Given the description of an element on the screen output the (x, y) to click on. 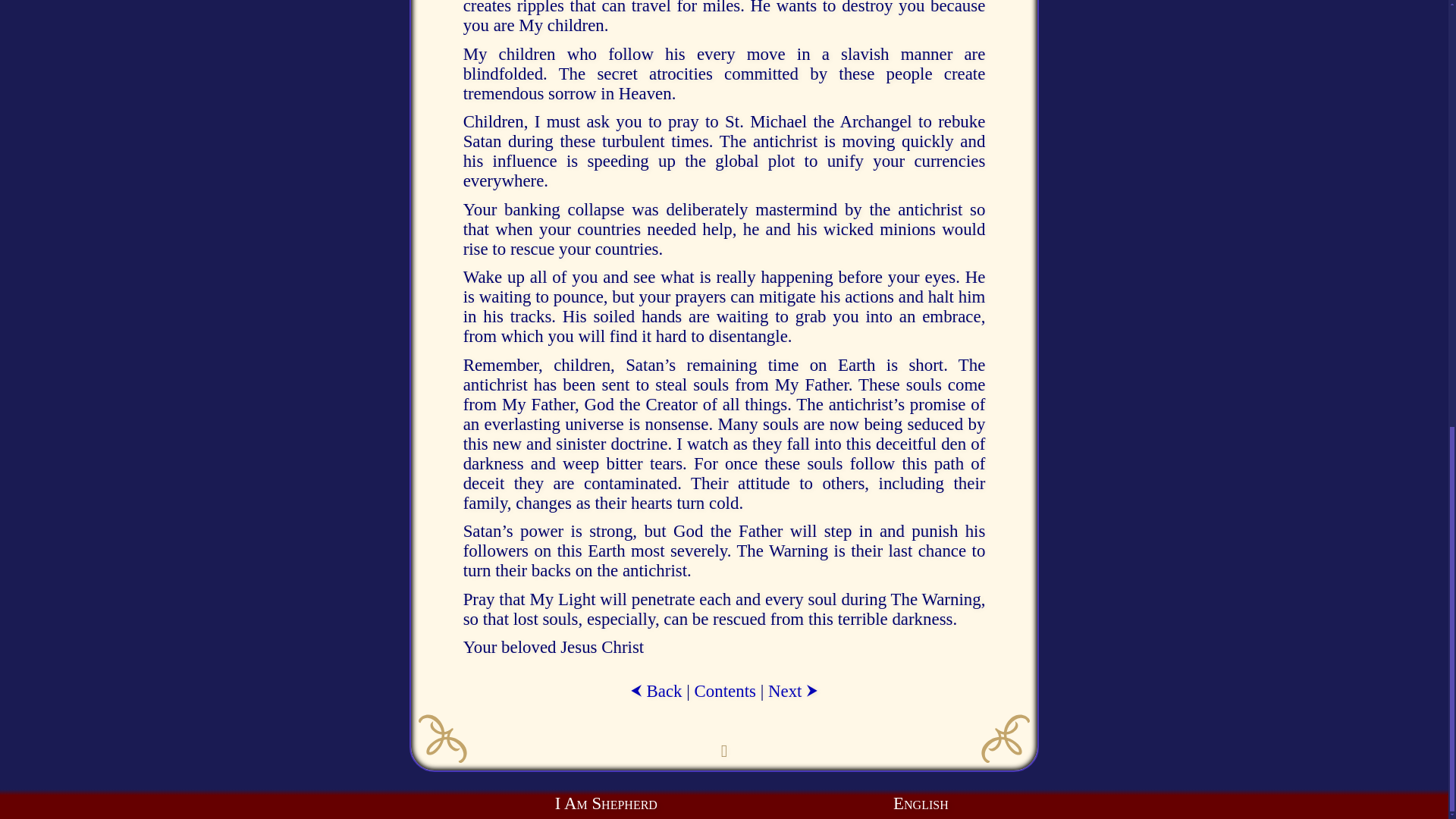
Contents (724, 691)
